Given the description of an element on the screen output the (x, y) to click on. 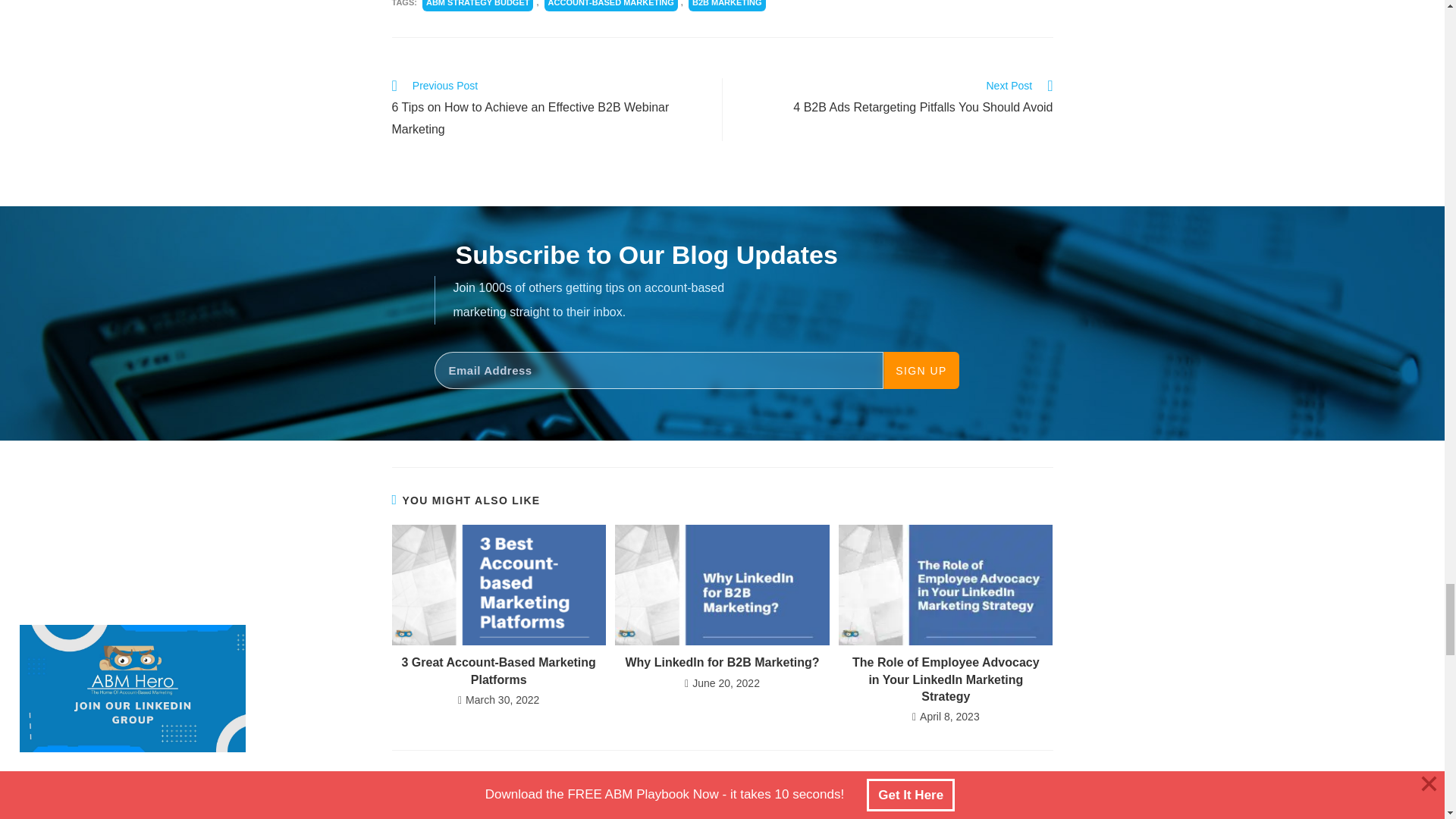
ABM STRATEGY BUDGET (478, 5)
B2B MARKETING (726, 5)
Why LinkedIn for B2B Marketing? (721, 662)
ABM Hero Post Featured Images 16 (945, 584)
3 Best Account Based Marketing Platforms ABM Hero (498, 584)
3 Great Account-Based Marketing Platforms (497, 671)
ABM Hero Post Featured Images 6 (721, 584)
ACCOUNT-BASED MARKETING (611, 5)
Sign up (920, 370)
Sign up (920, 370)
